Given the description of an element on the screen output the (x, y) to click on. 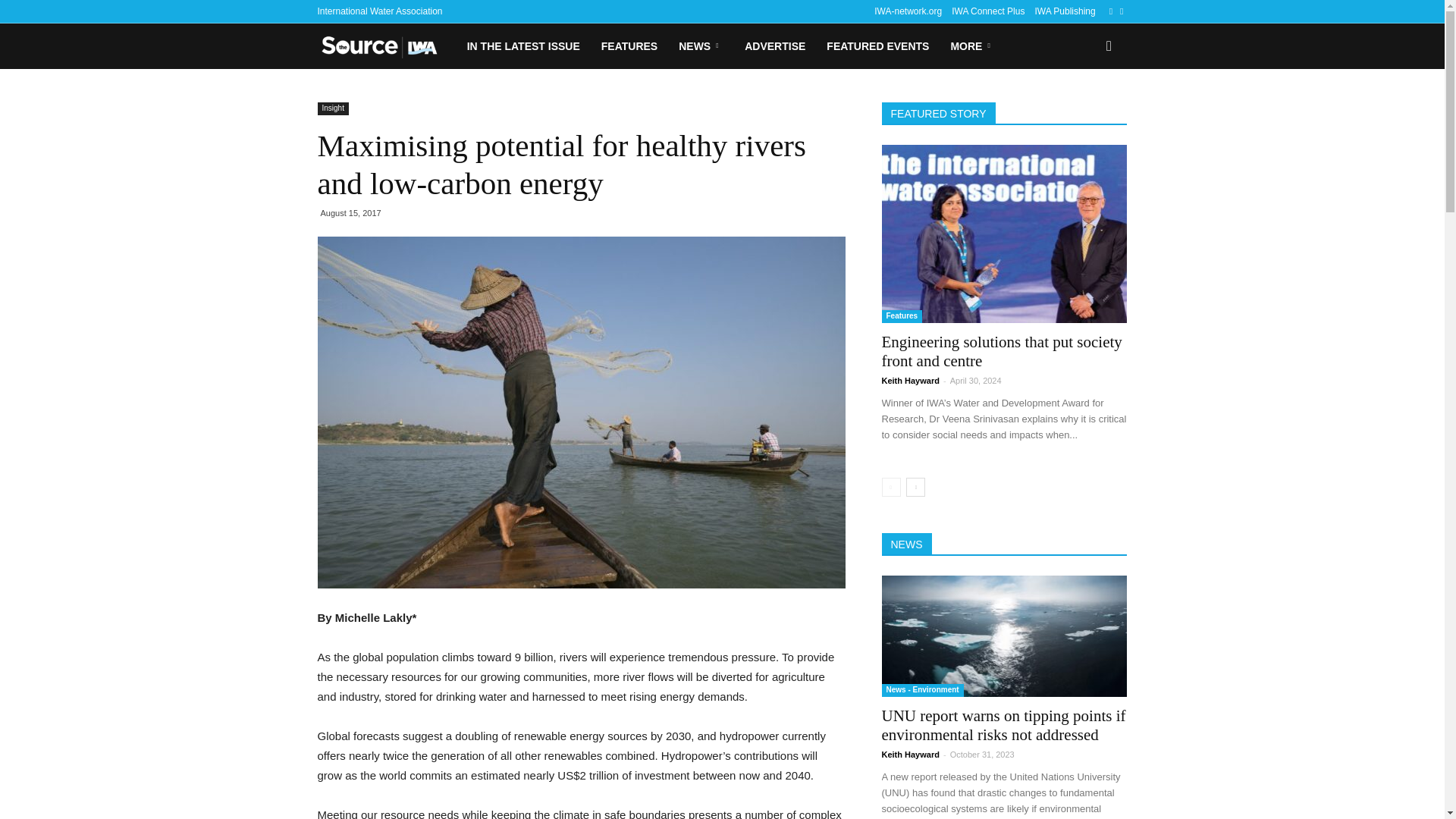
The Source (386, 46)
FEATURES (629, 45)
IWA Publishing (1063, 11)
IN THE LATEST ISSUE (524, 45)
Engineering solutions that put society front and centre (1003, 233)
Engineering solutions that put society front and centre (1000, 351)
NEWS (700, 45)
IWA Connect Plus (988, 11)
ADVERTISE (774, 45)
